Given the description of an element on the screen output the (x, y) to click on. 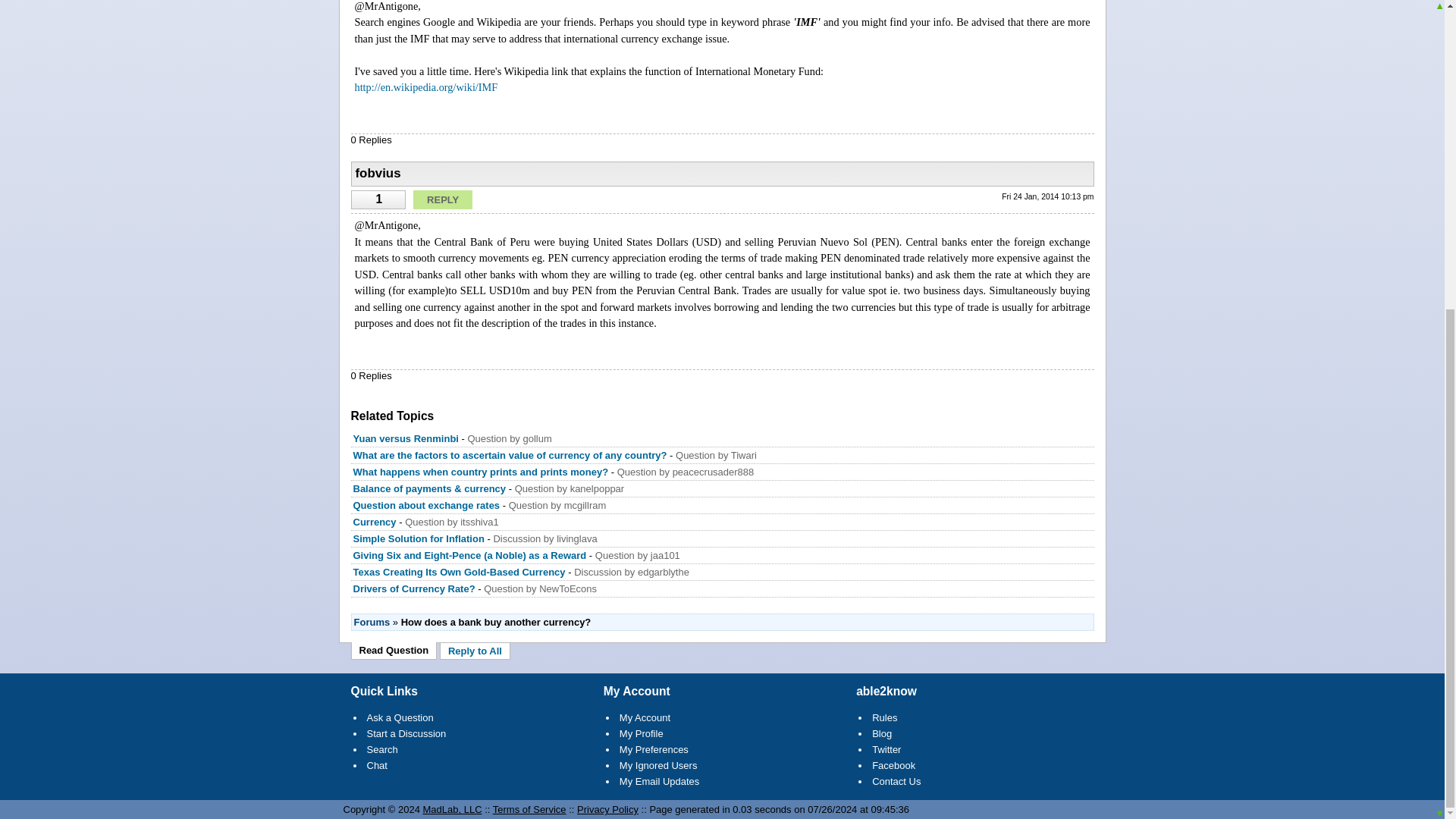
Texas Creating Its Own Gold-Based Currency (459, 572)
Drivers of Currency Rate? (414, 588)
What happens when country prints and prints money? (480, 471)
Reply to All (475, 651)
Currency (374, 521)
Ask a Question (399, 717)
Start a Discussion (406, 733)
Search (381, 749)
Yuan versus Renminbi (405, 438)
Simple Solution for Inflation (418, 538)
Reply to All (475, 651)
Forums (371, 622)
Reply (442, 199)
Chat (376, 765)
